Given the description of an element on the screen output the (x, y) to click on. 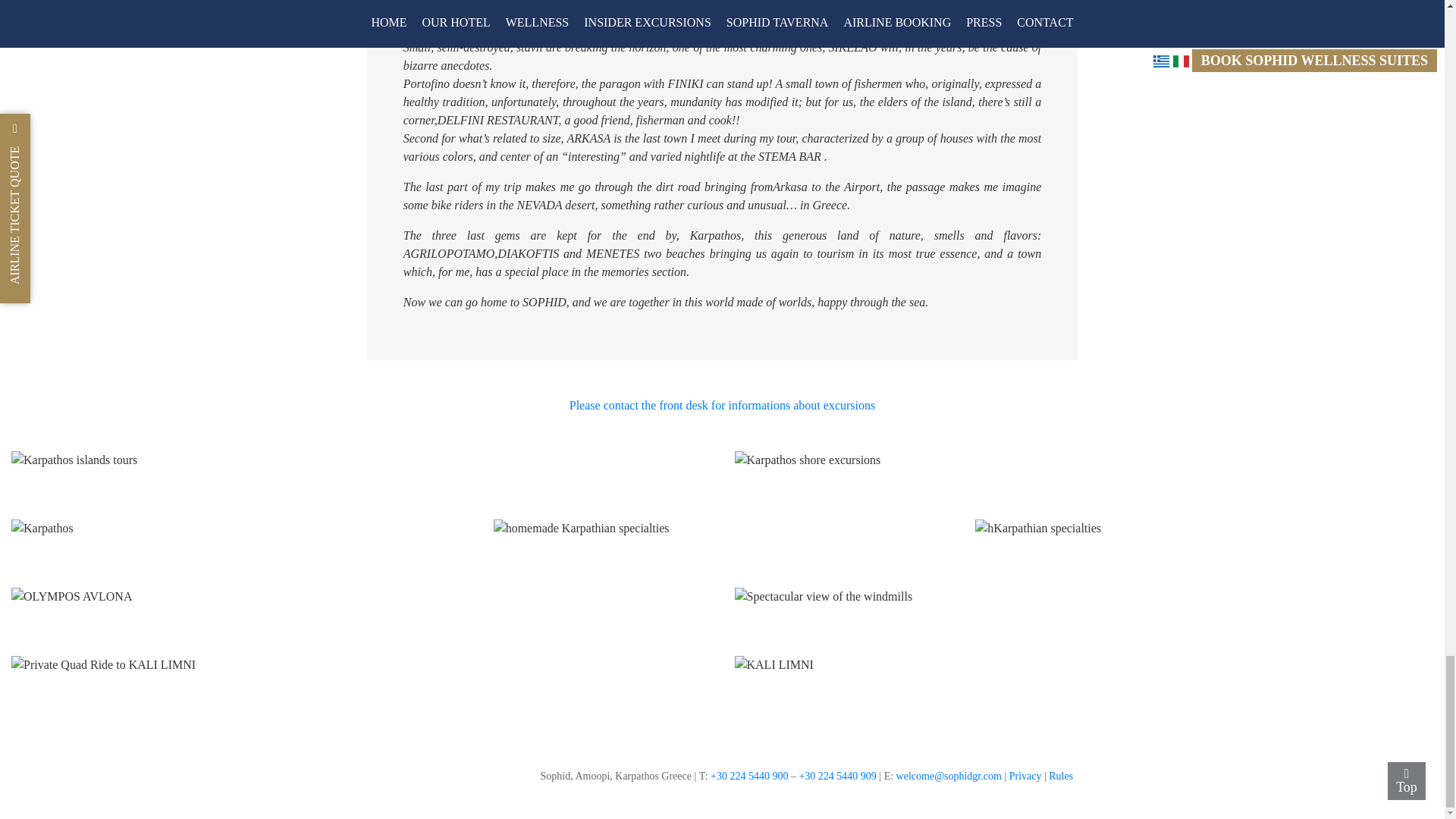
Rules (1060, 776)
Privacy (1026, 776)
